Given the description of an element on the screen output the (x, y) to click on. 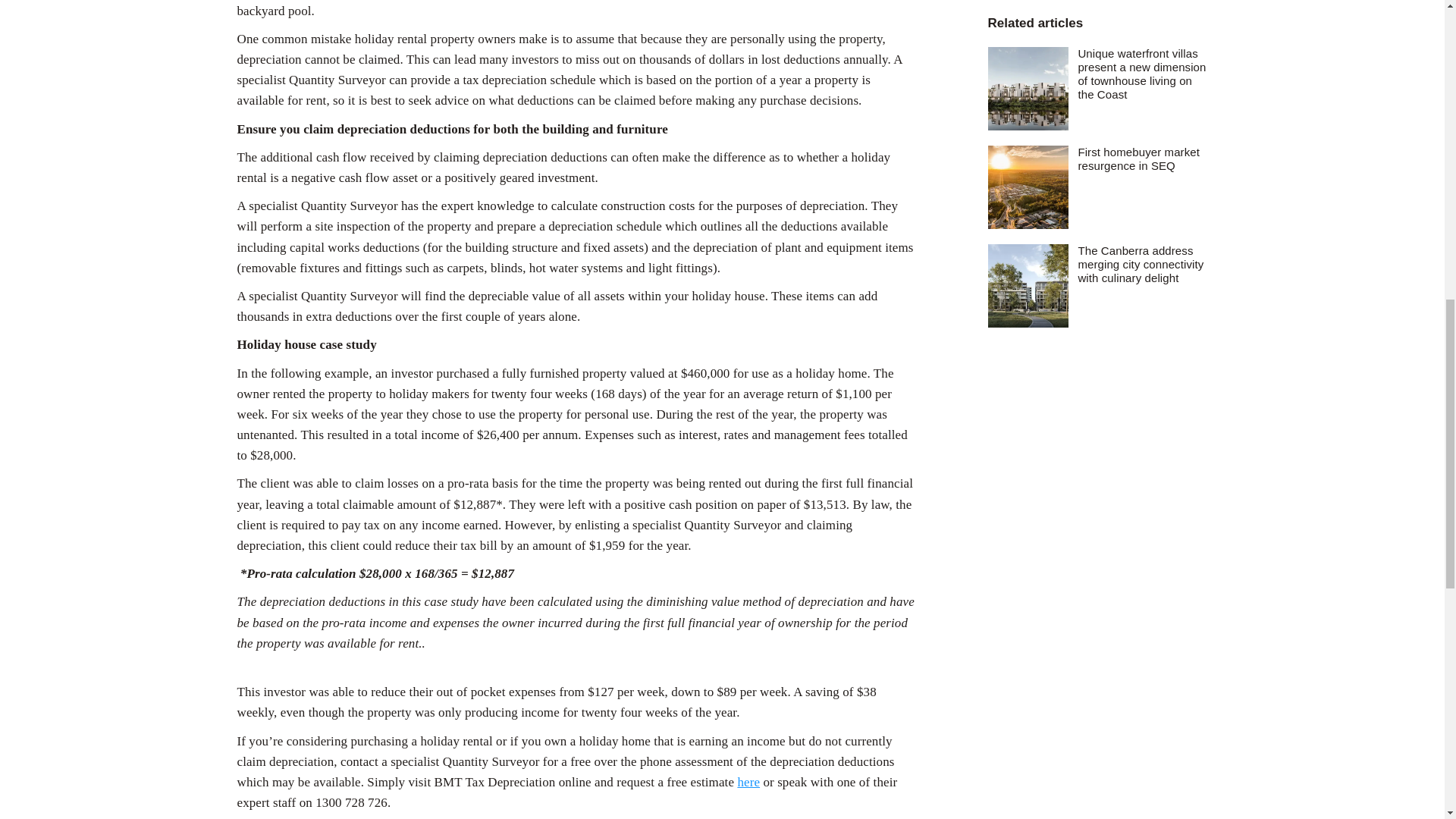
here (748, 781)
First homebuyer market resurgence in SEQ (1142, 110)
